Given the description of an element on the screen output the (x, y) to click on. 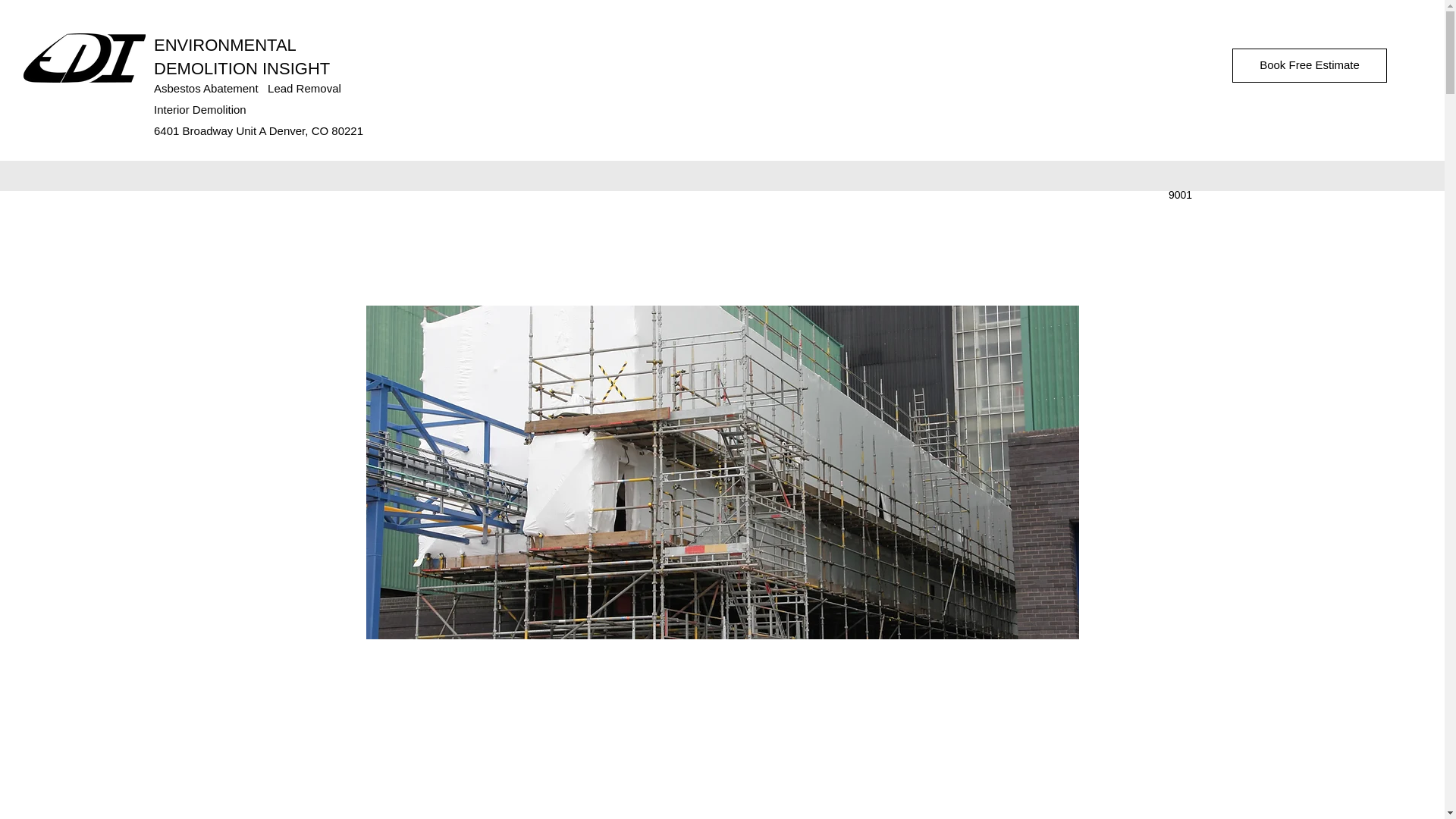
Features (266, 175)
ENVIRONMENTAL DEMOLITION INSIGHT (242, 56)
Log In (1350, 176)
Services (124, 175)
Book Free Estimate (1309, 65)
Contact (321, 175)
Home (74, 175)
